Given the description of an element on the screen output the (x, y) to click on. 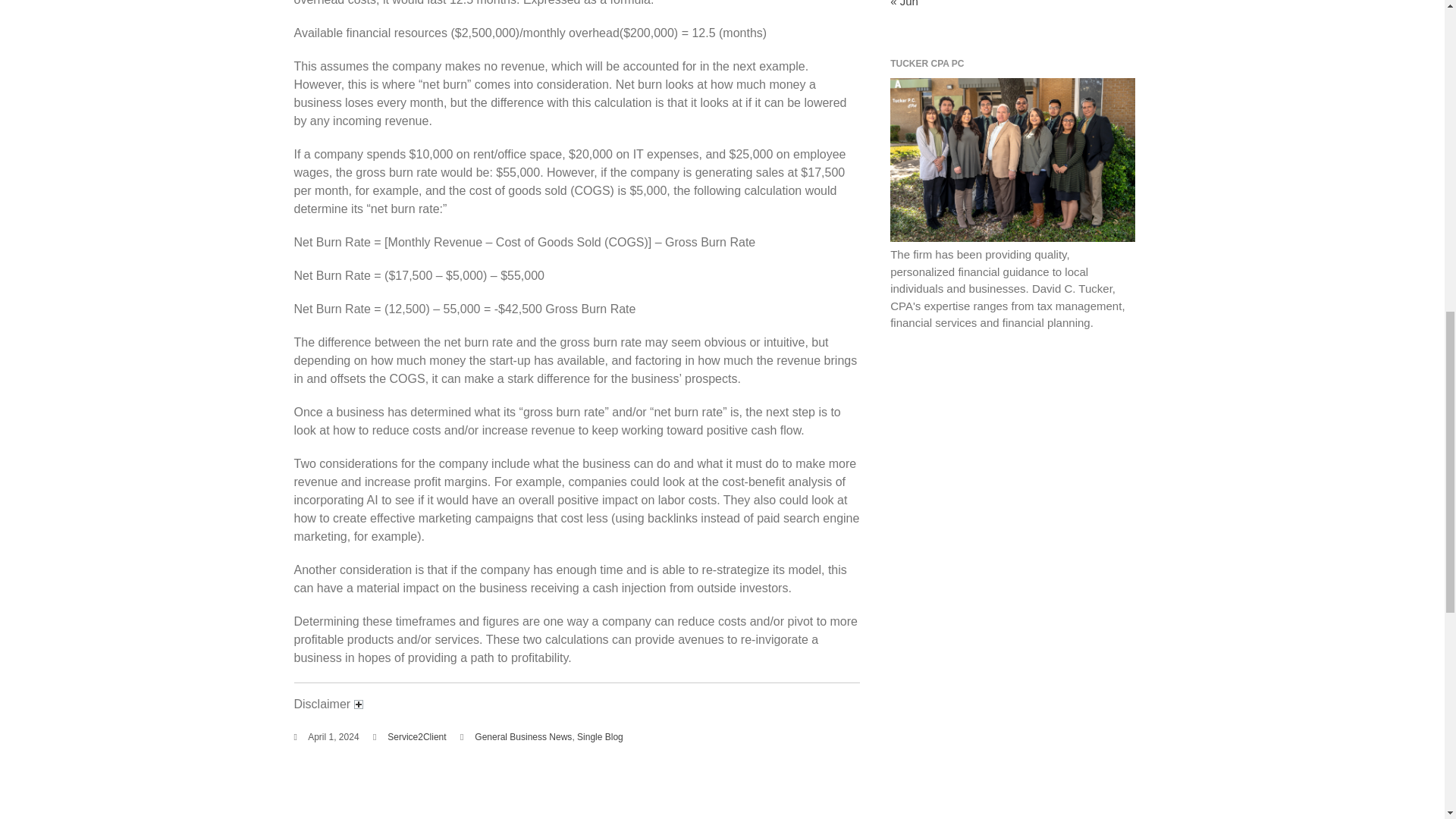
View all posts by Service2Client (416, 737)
View all posts in General Business News (523, 737)
View all posts in Single Blog (599, 737)
